Given the description of an element on the screen output the (x, y) to click on. 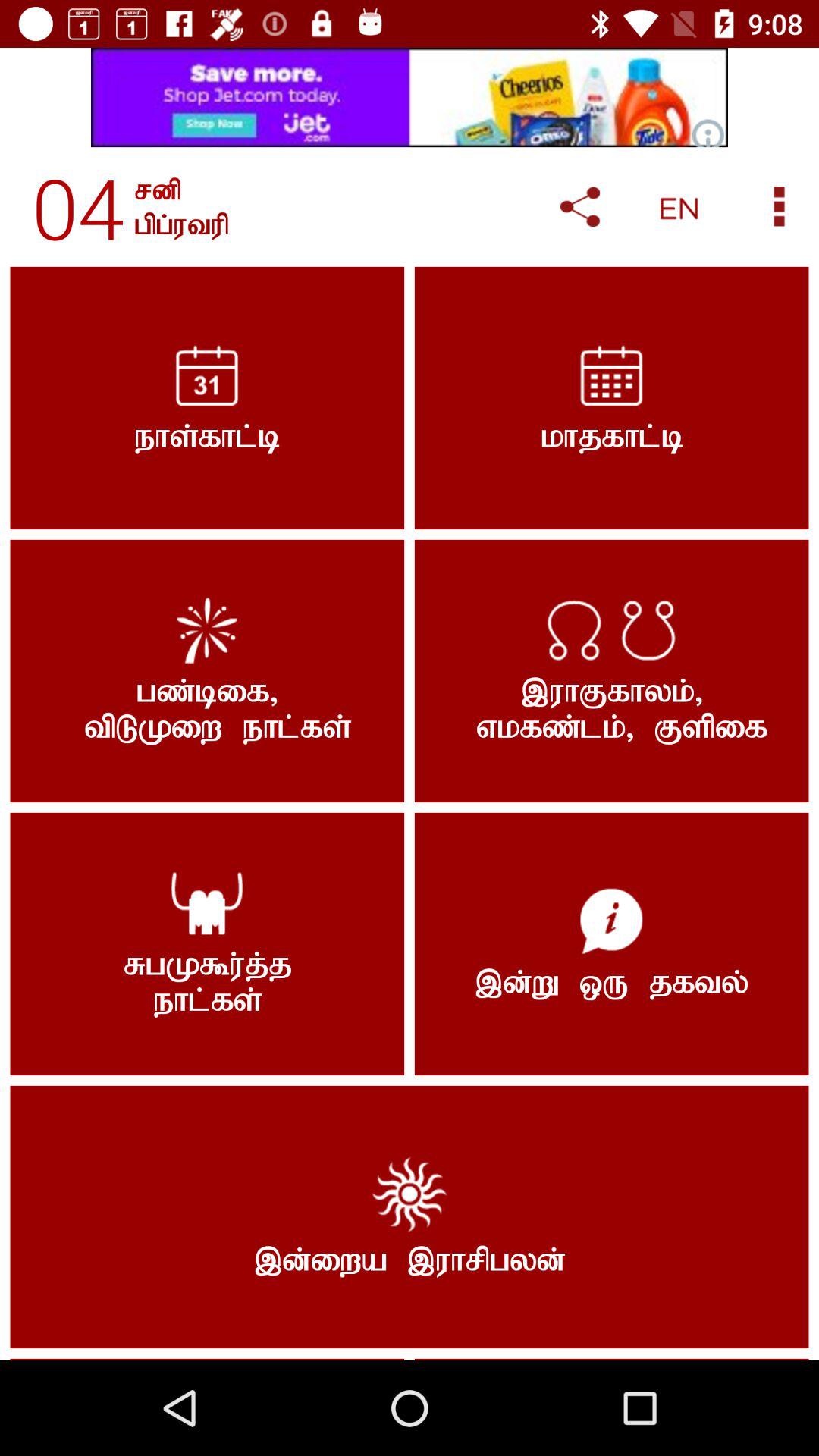
announcement (409, 97)
